Given the description of an element on the screen output the (x, y) to click on. 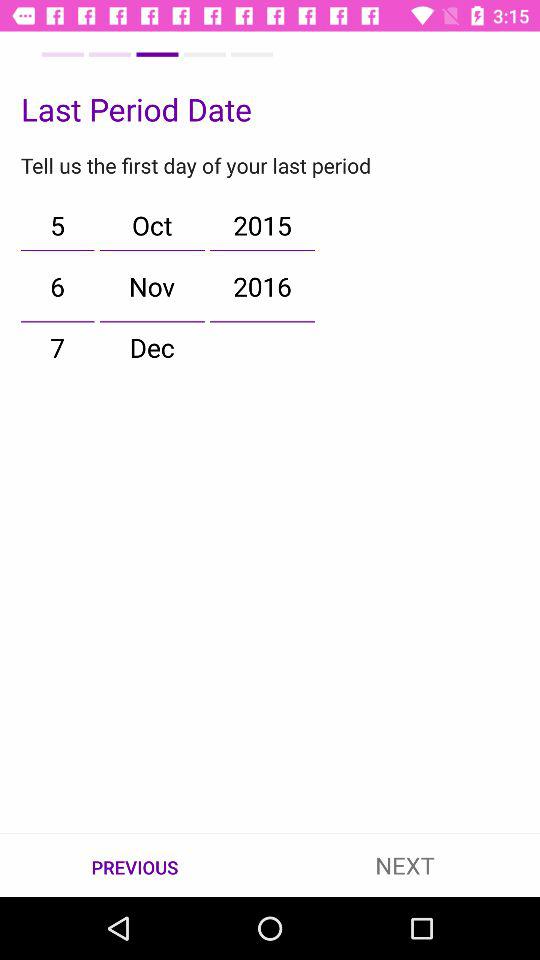
open the icon to the left of next (135, 865)
